Given the description of an element on the screen output the (x, y) to click on. 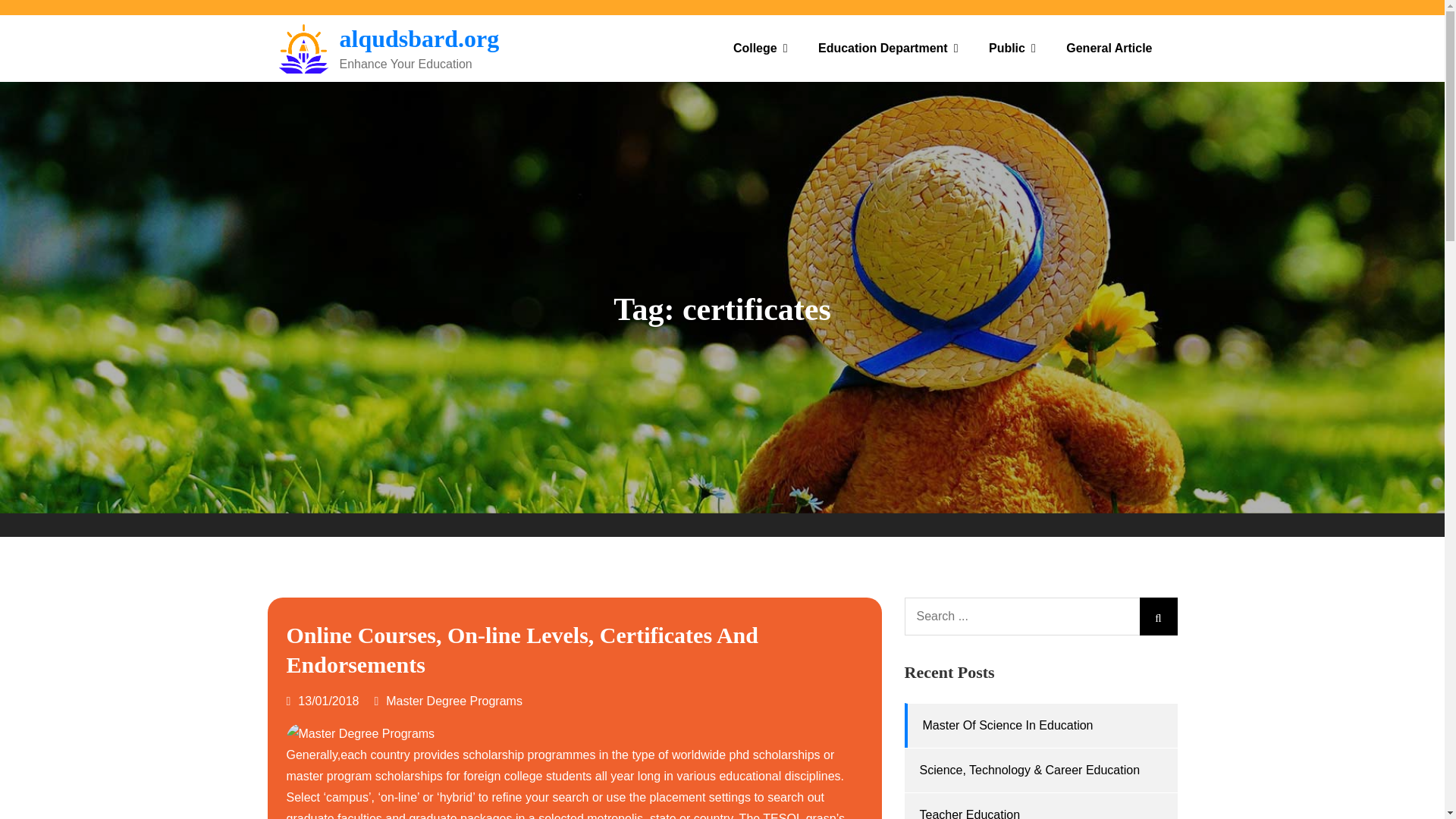
alqudsbard.org (419, 38)
Education Department (888, 48)
General Article (1109, 48)
Search for: (1040, 616)
College (760, 48)
Master Degree Programs (453, 700)
Public (1012, 48)
Search (1157, 616)
